Given the description of an element on the screen output the (x, y) to click on. 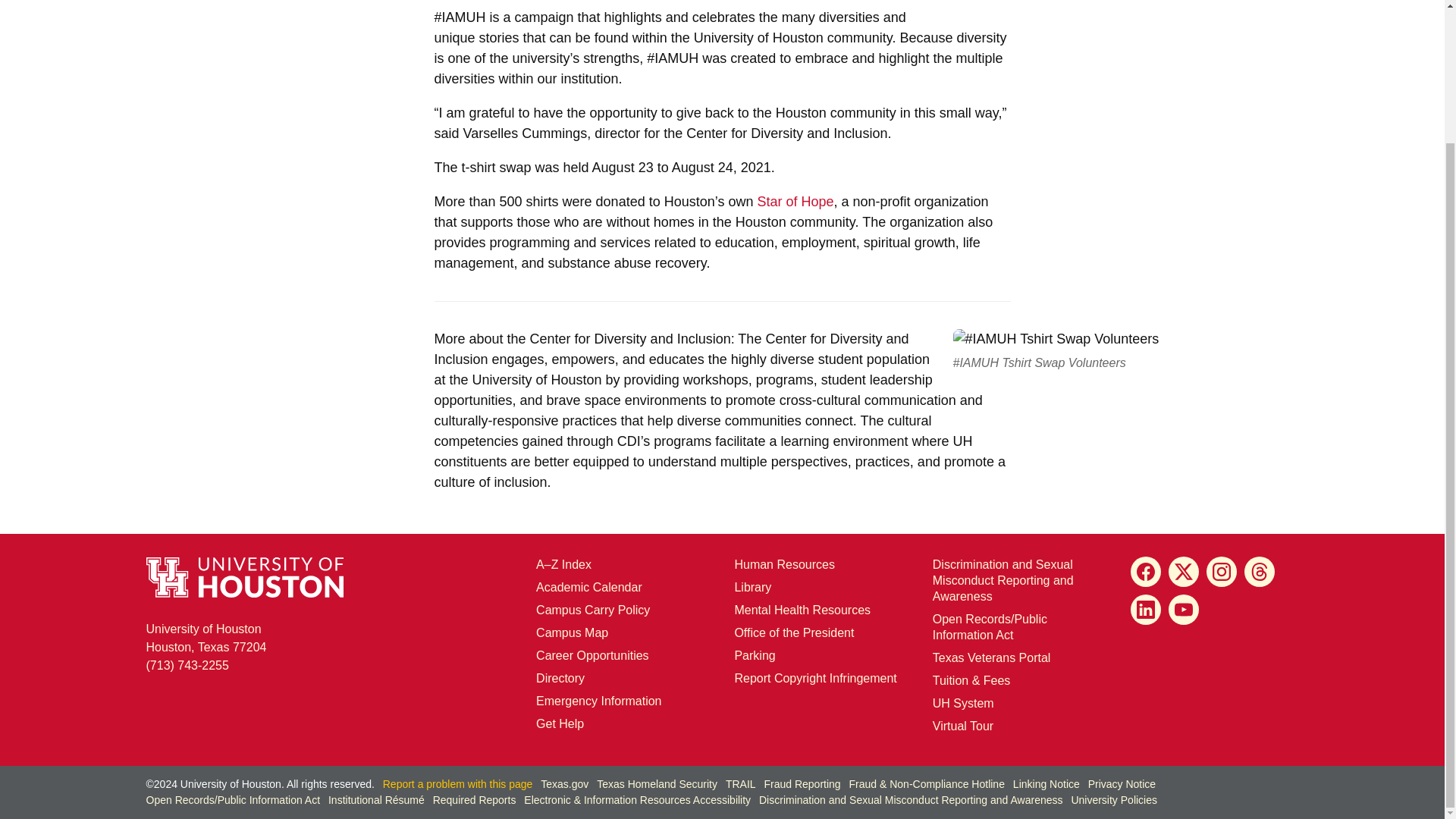
X (1183, 571)
Virtual Tour (962, 725)
Star of Hope (794, 201)
Academic Calendar (588, 586)
Directory (205, 637)
Threads (560, 677)
Office of the President (1259, 571)
Get Help (793, 632)
